Given the description of an element on the screen output the (x, y) to click on. 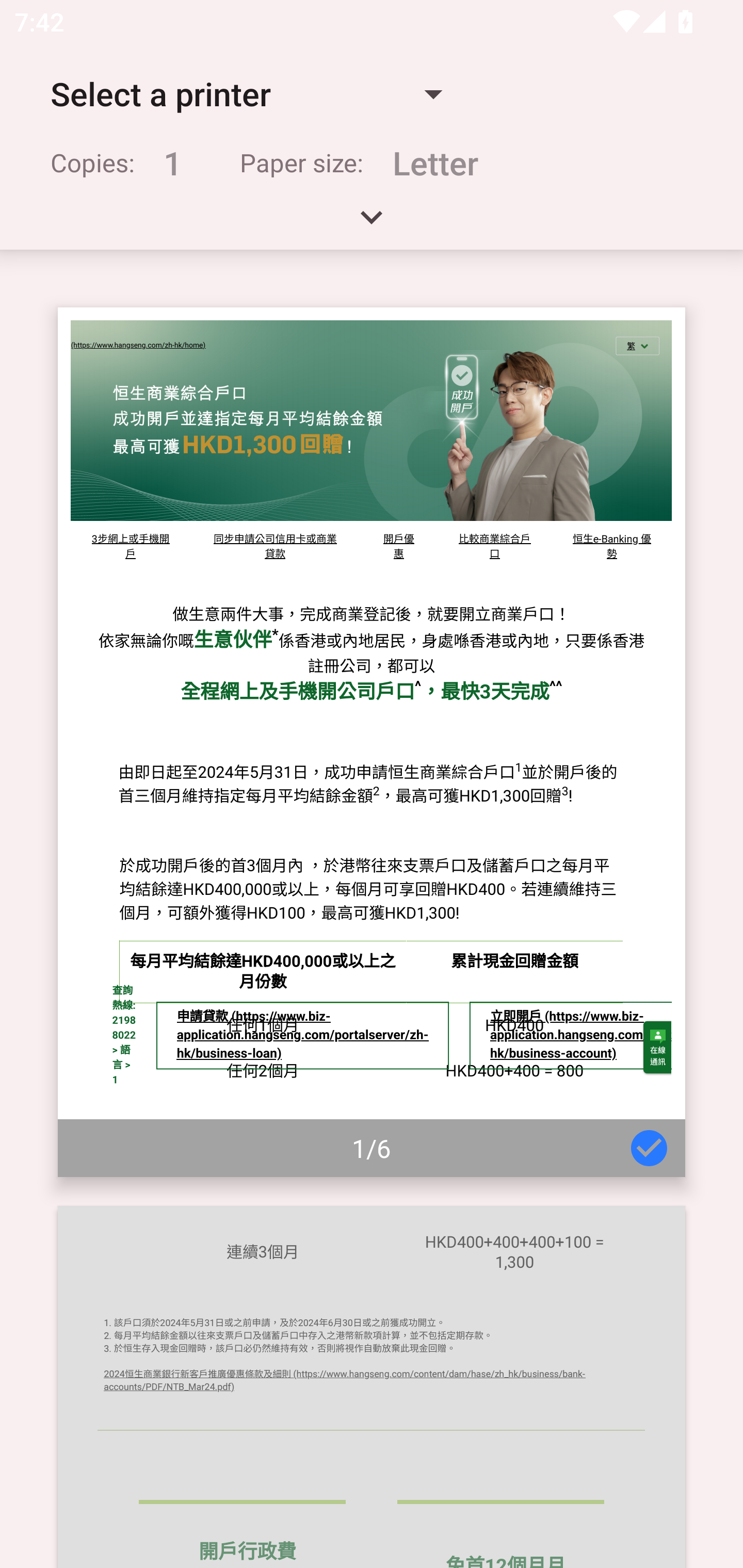
Select a printer (245, 93)
Expand handle (371, 224)
Page 1 of 6 1/6 (371, 742)
Page 2 of 6 (371, 1386)
